Given the description of an element on the screen output the (x, y) to click on. 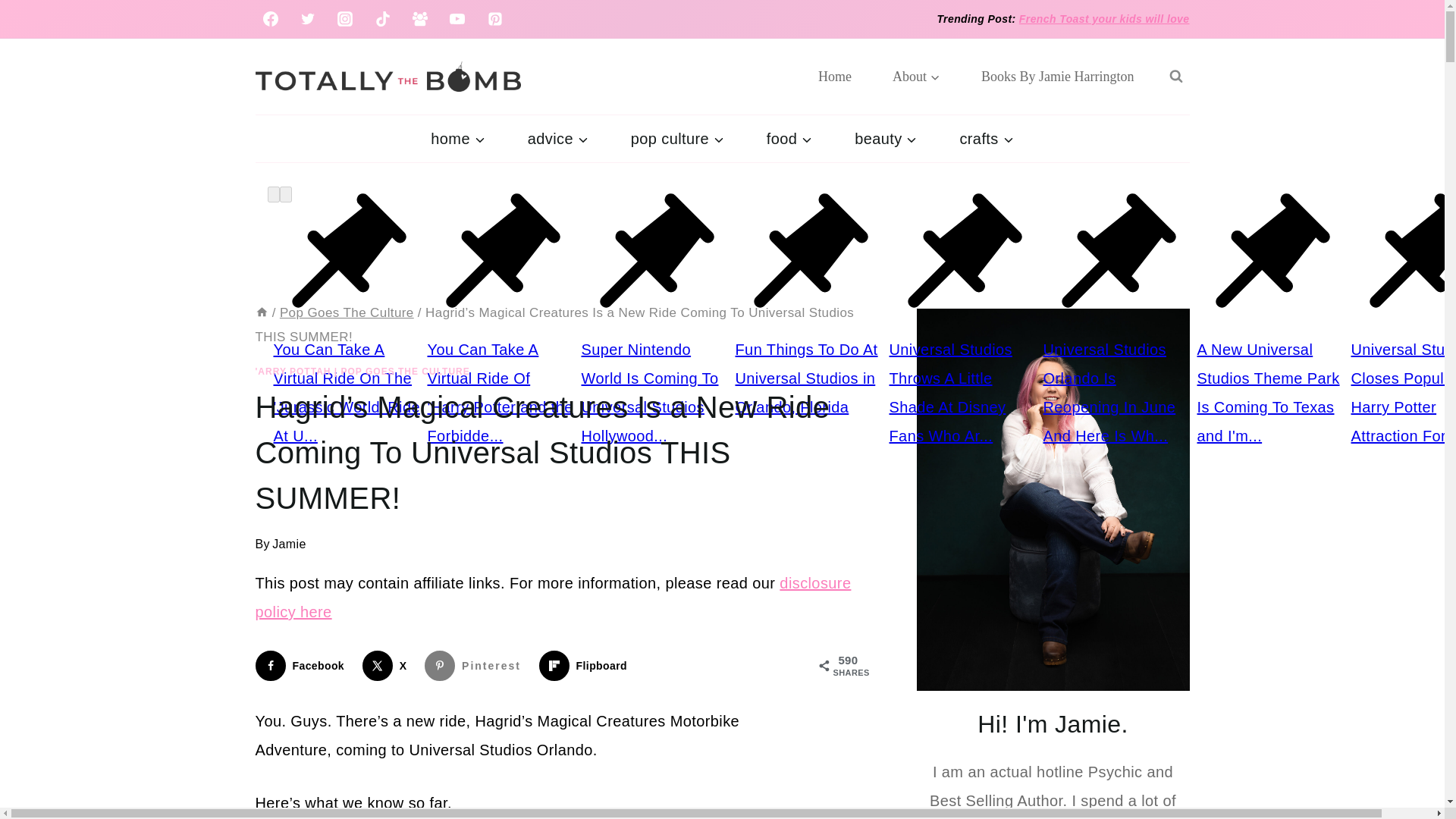
advice (558, 138)
home (457, 138)
French Toast your kids will love (1104, 19)
Share on X (387, 665)
pop culture (677, 138)
Share on Facebook (302, 665)
Books By Jamie Harrington (1057, 76)
About (916, 76)
Share on Flipboard (585, 665)
Save to Pinterest (476, 665)
Home (260, 312)
Home (834, 76)
